Given the description of an element on the screen output the (x, y) to click on. 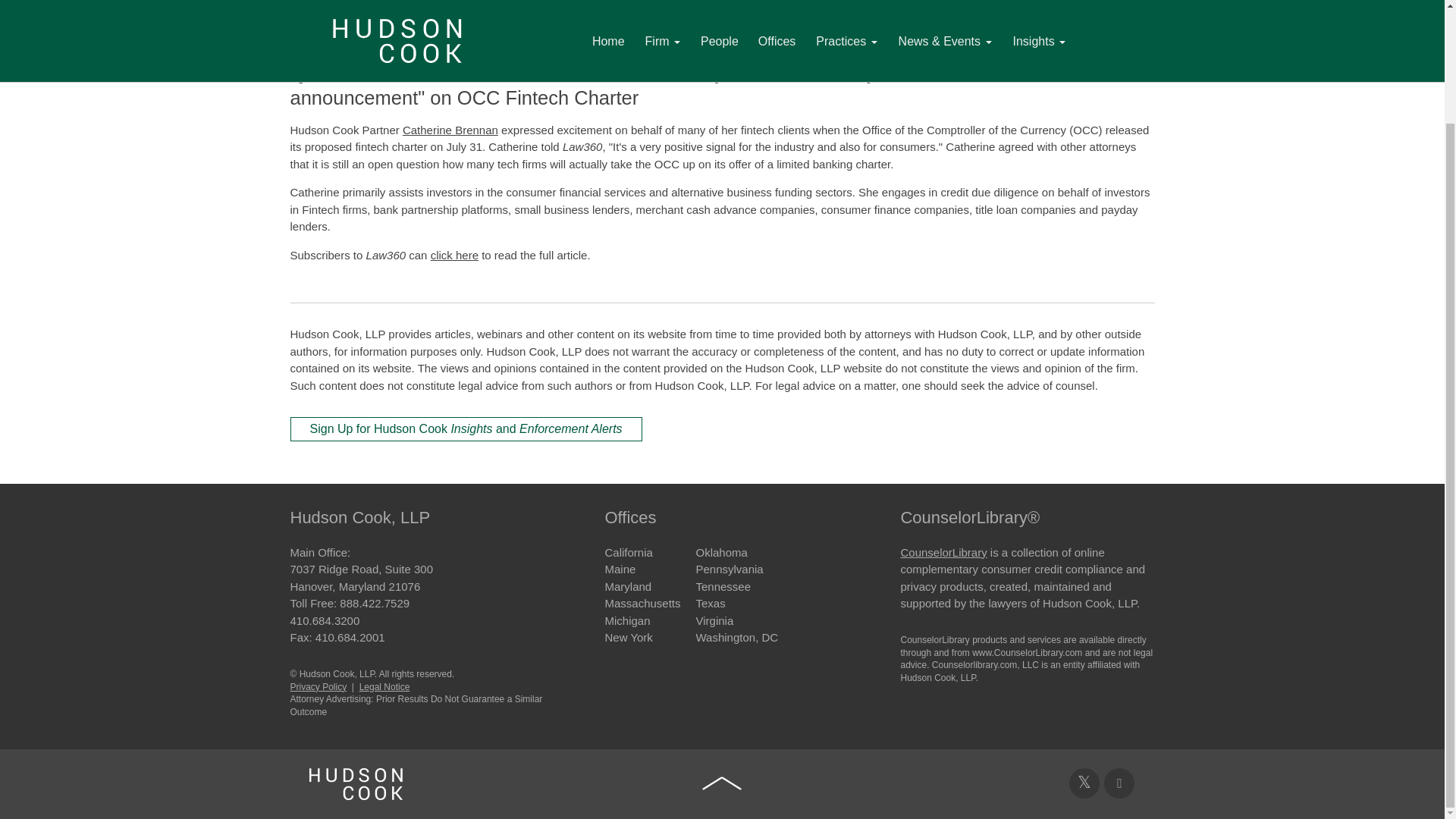
Hudson Cook, LLP (355, 784)
Back to Top (721, 783)
